Given the description of an element on the screen output the (x, y) to click on. 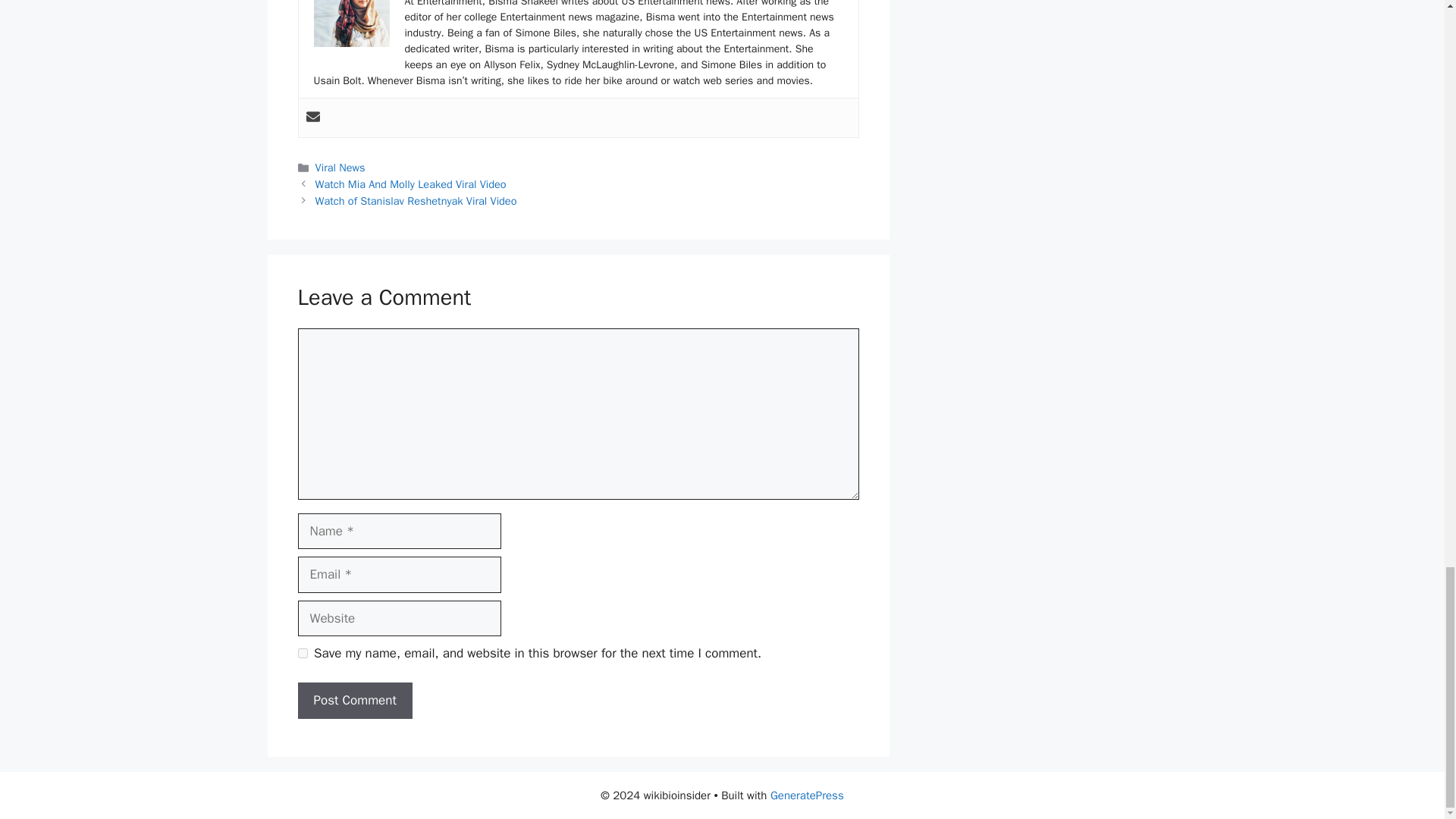
Post Comment (354, 700)
Viral News (340, 167)
Watch of Stanislav Reshetnyak Viral Video (415, 201)
yes (302, 653)
GeneratePress (807, 795)
Watch Mia And Molly Leaked Viral Video (410, 183)
Post Comment (354, 700)
